Given the description of an element on the screen output the (x, y) to click on. 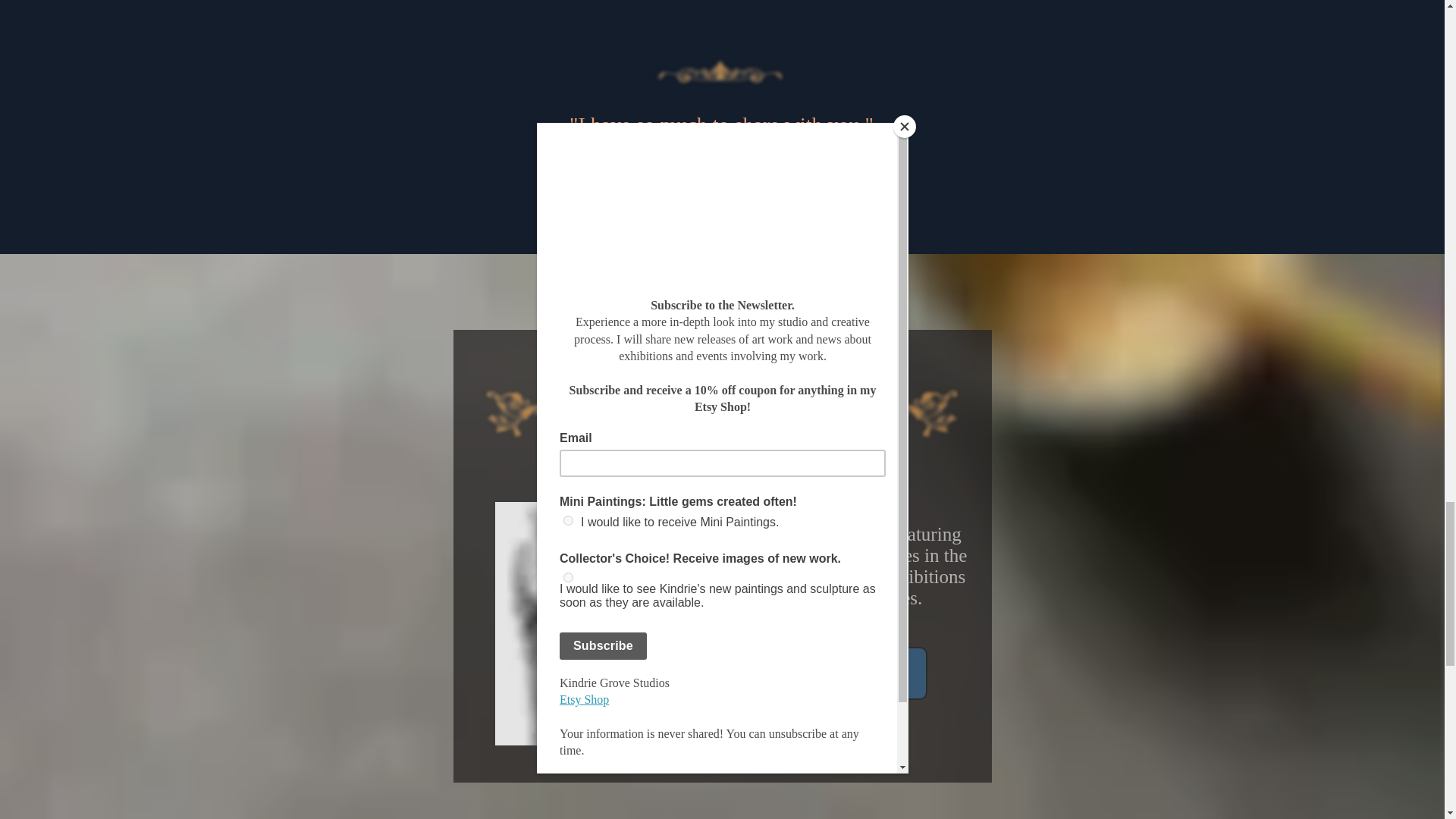
Join My Newsletter (834, 673)
